Given the description of an element on the screen output the (x, y) to click on. 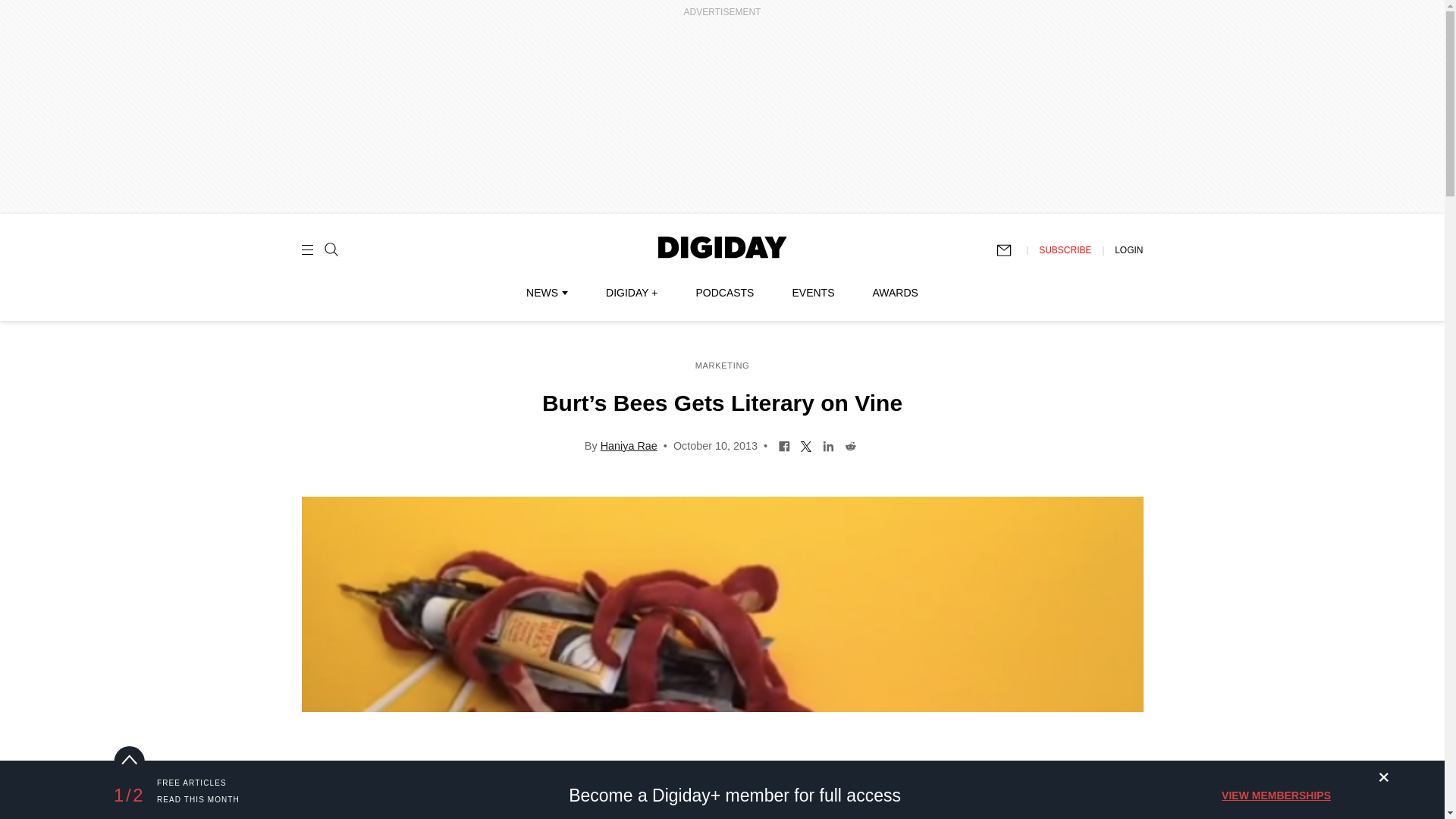
Subscribe (1010, 250)
Share on Reddit (850, 444)
PODCASTS (725, 292)
AWARDS (894, 292)
Share on Twitter (805, 444)
NEWS (546, 292)
EVENTS (813, 292)
Share on Facebook (783, 444)
SUBSCRIBE (1064, 249)
Share on LinkedIn (828, 444)
LOGIN (1128, 249)
